Given the description of an element on the screen output the (x, y) to click on. 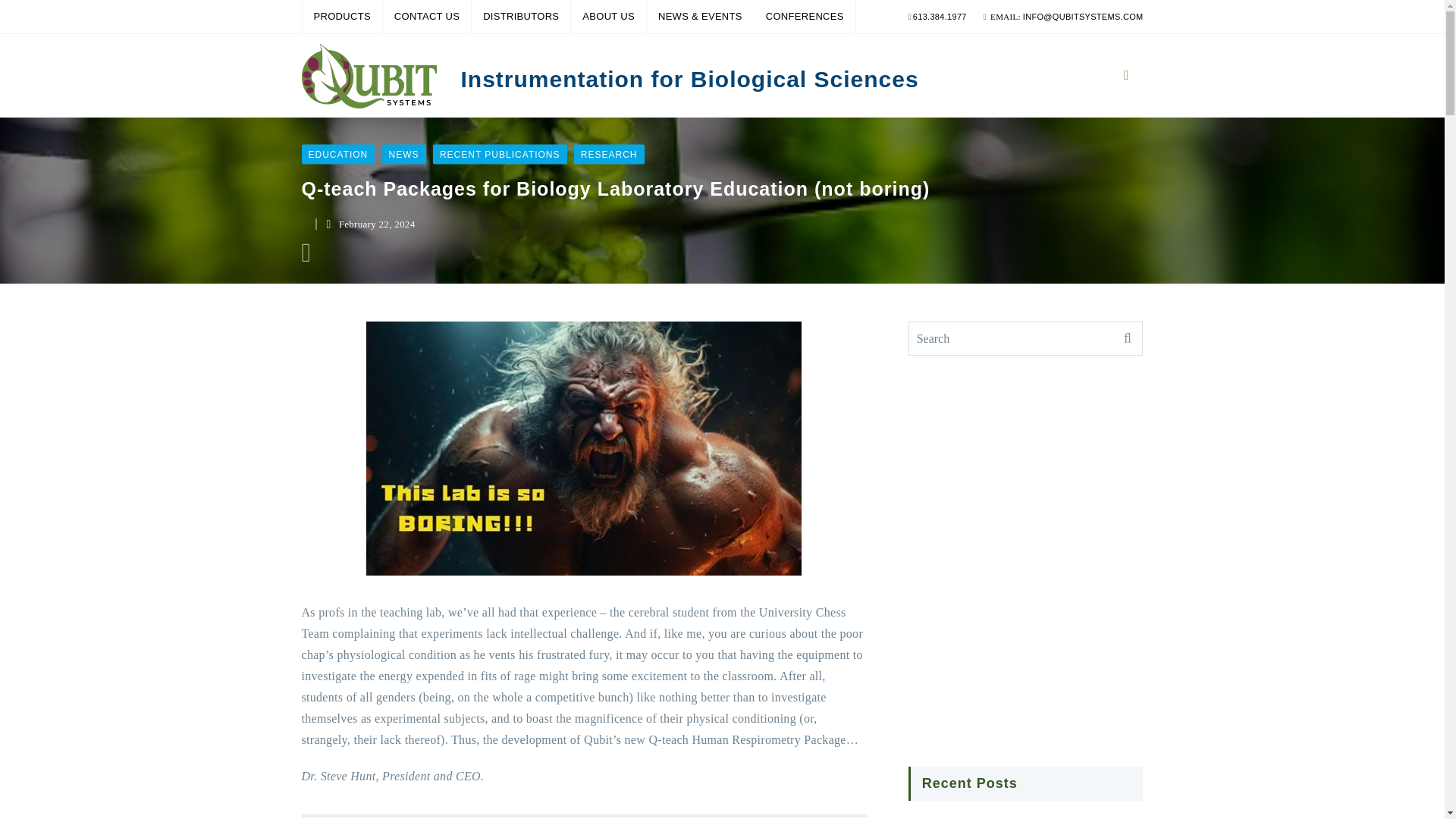
RESEARCH (609, 153)
CONTACT US (426, 16)
DISTRIBUTORS (520, 16)
CONFERENCES (805, 16)
NEWS (403, 153)
ABOUT US (608, 16)
PRODUCTS (341, 16)
613.384.1977 (939, 16)
labs are so boring (584, 448)
EDUCATION (338, 153)
